Given the description of an element on the screen output the (x, y) to click on. 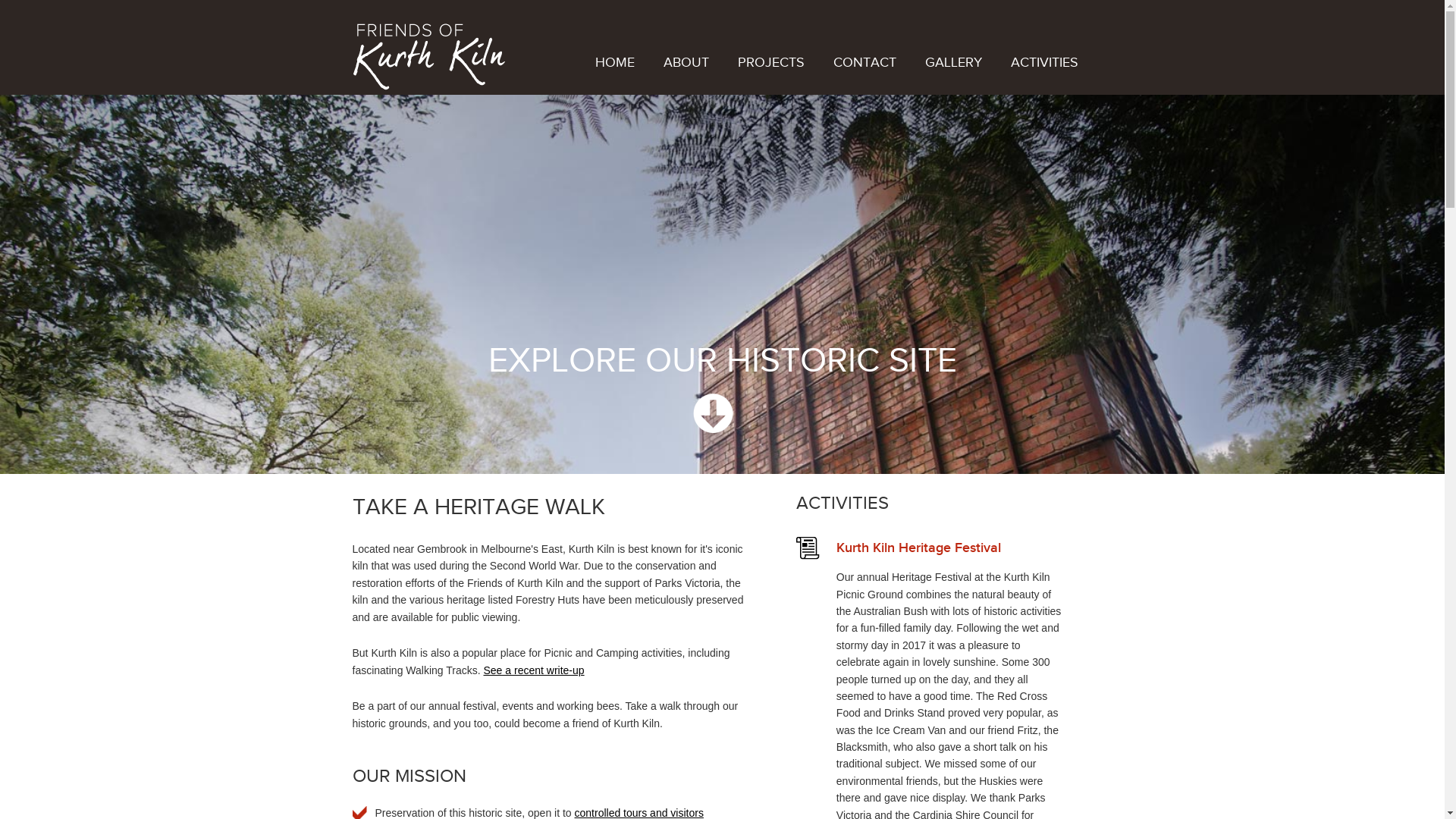
HOME Element type: text (613, 61)
PROJECTS Element type: text (770, 61)
See a recent write-up Element type: text (533, 670)
CONTACT Element type: text (864, 61)
ABOUT Element type: text (685, 61)
GALLERY Element type: text (953, 61)
ACTIVITIES Element type: text (1043, 61)
